Given the description of an element on the screen output the (x, y) to click on. 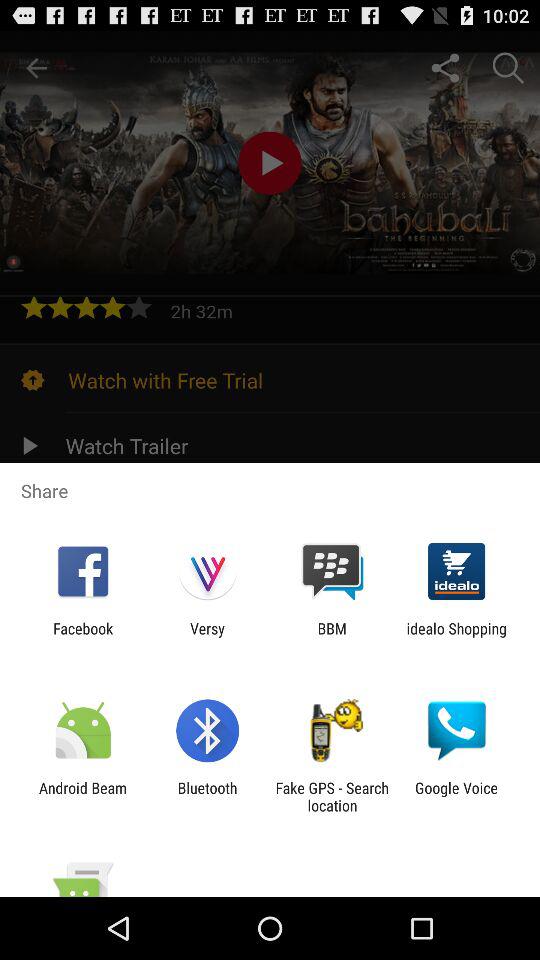
launch google voice (456, 796)
